Given the description of an element on the screen output the (x, y) to click on. 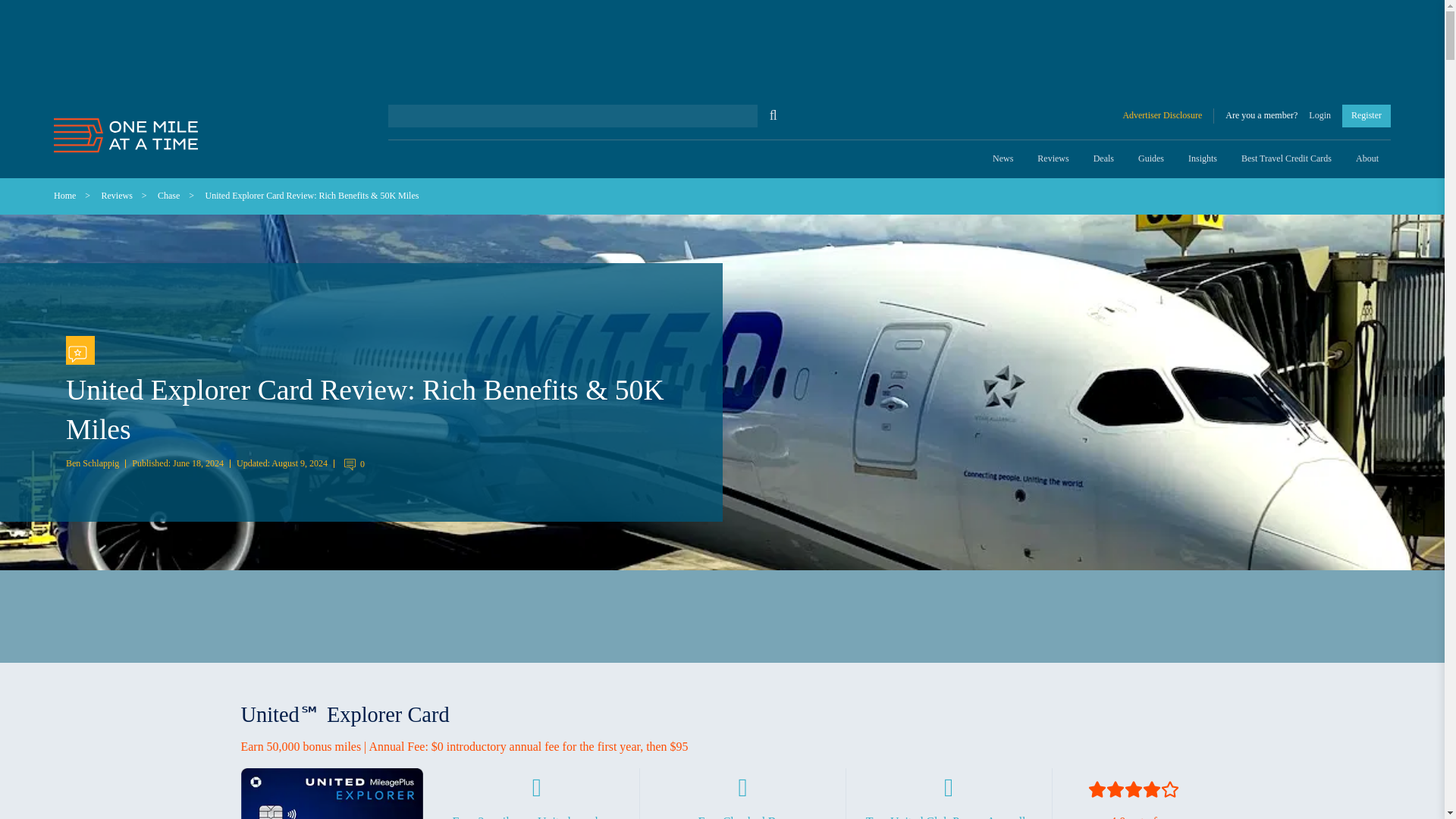
Register (1366, 115)
Guides (1150, 159)
Insights (1202, 159)
Reviews (1052, 159)
Best Travel Credit Cards (1285, 159)
Deals (1103, 159)
Login (1319, 115)
Home (64, 195)
Deals (1103, 159)
News (1002, 159)
